Given the description of an element on the screen output the (x, y) to click on. 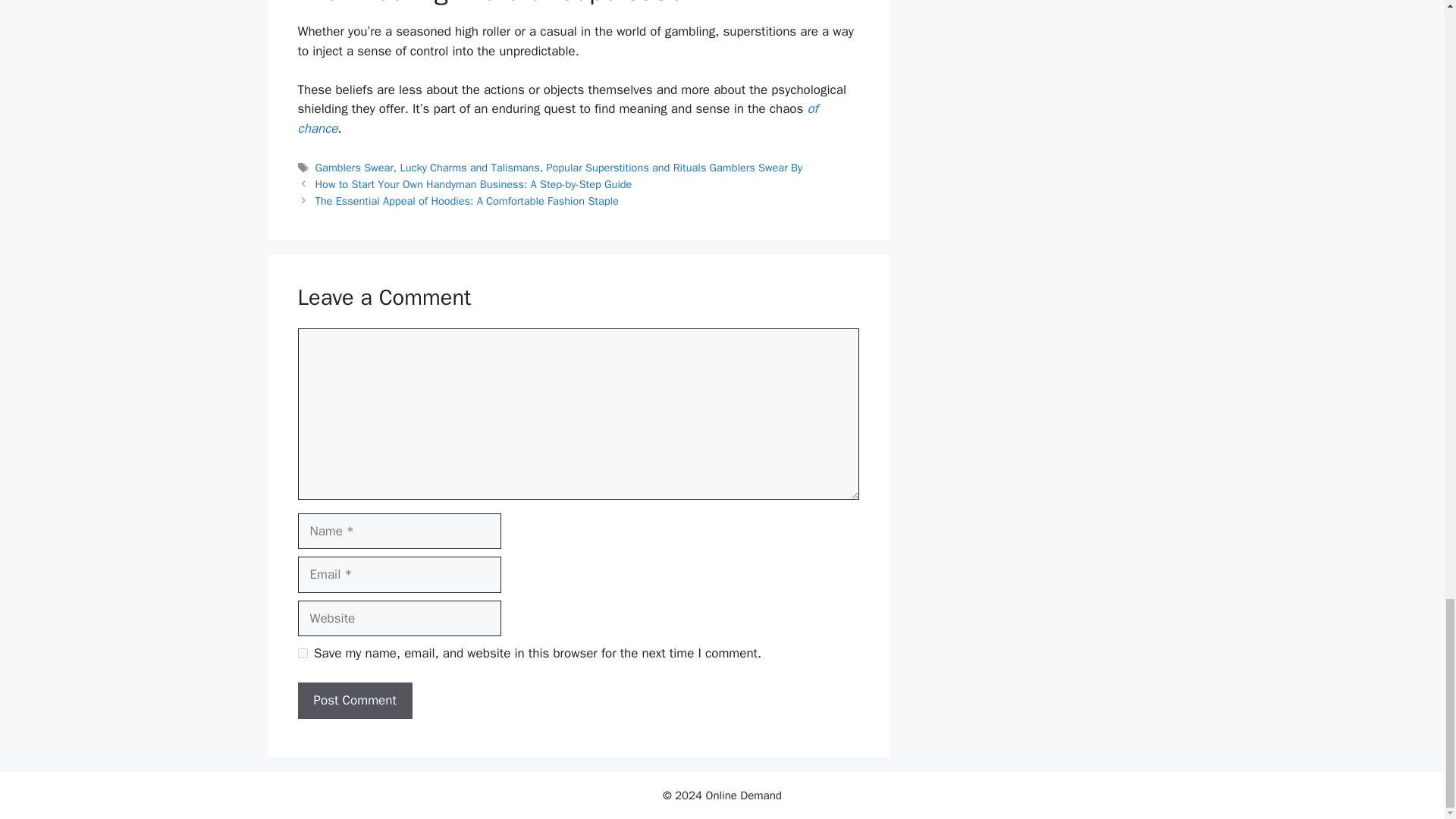
Post Comment (354, 700)
Lucky Charms and Talismans (470, 167)
Gamblers Swear (354, 167)
Popular Superstitions and Rituals Gamblers Swear By (674, 167)
of chance (556, 118)
yes (302, 653)
Post Comment (354, 700)
